Given the description of an element on the screen output the (x, y) to click on. 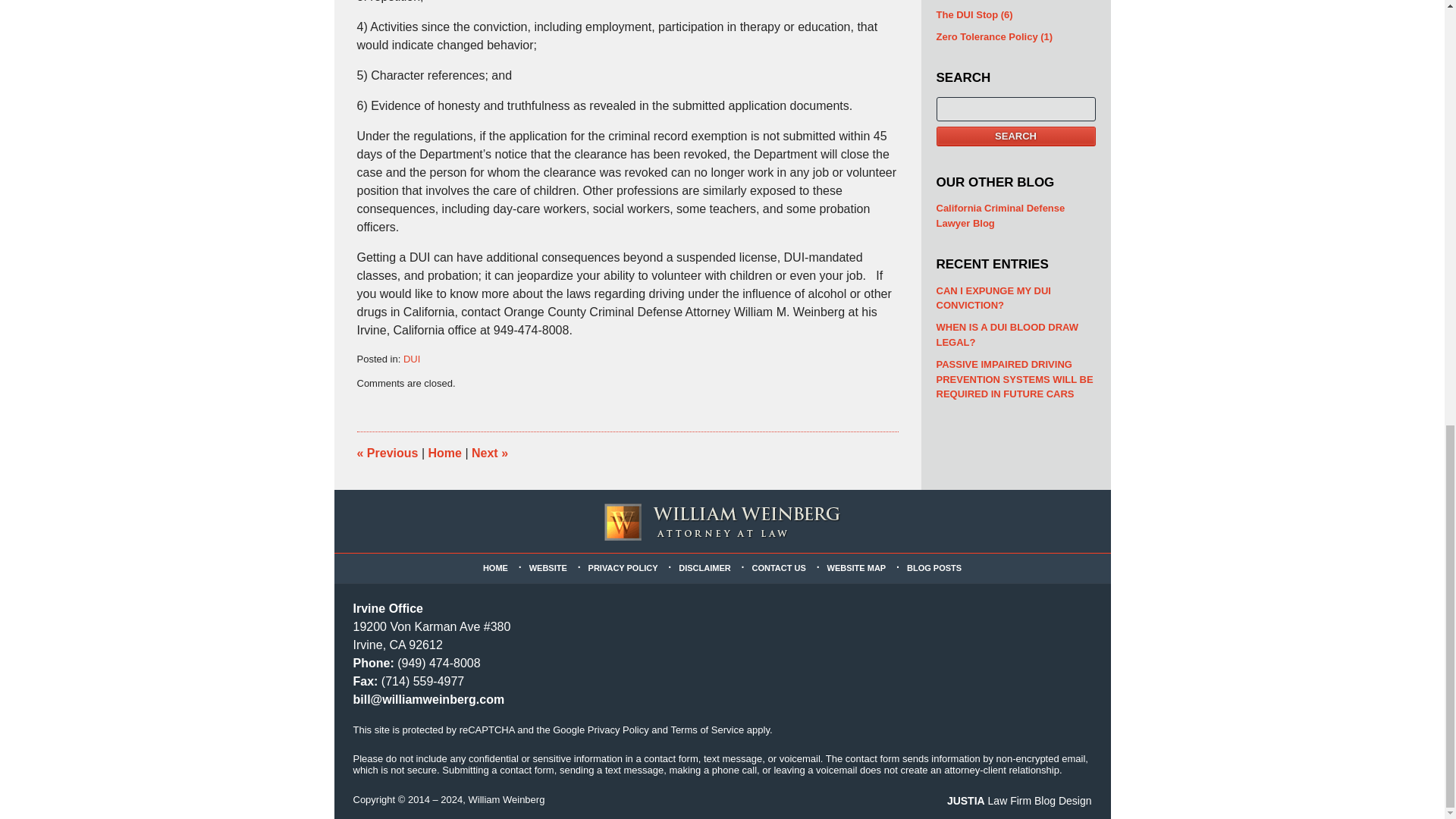
View all posts in DUI (411, 358)
DUI (411, 358)
Home (444, 452)
